Given the description of an element on the screen output the (x, y) to click on. 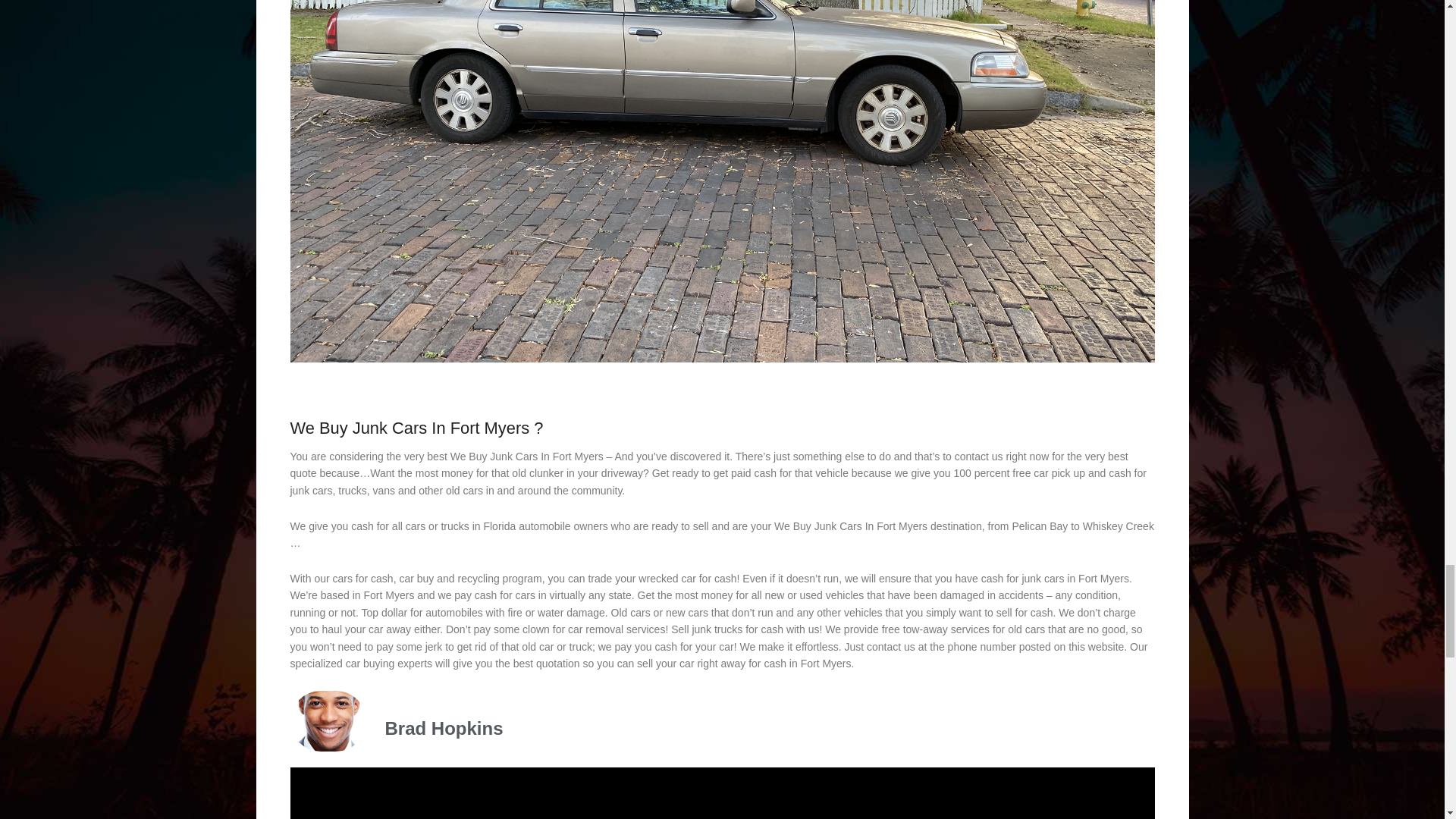
youtube Video Player (721, 793)
